Given the description of an element on the screen output the (x, y) to click on. 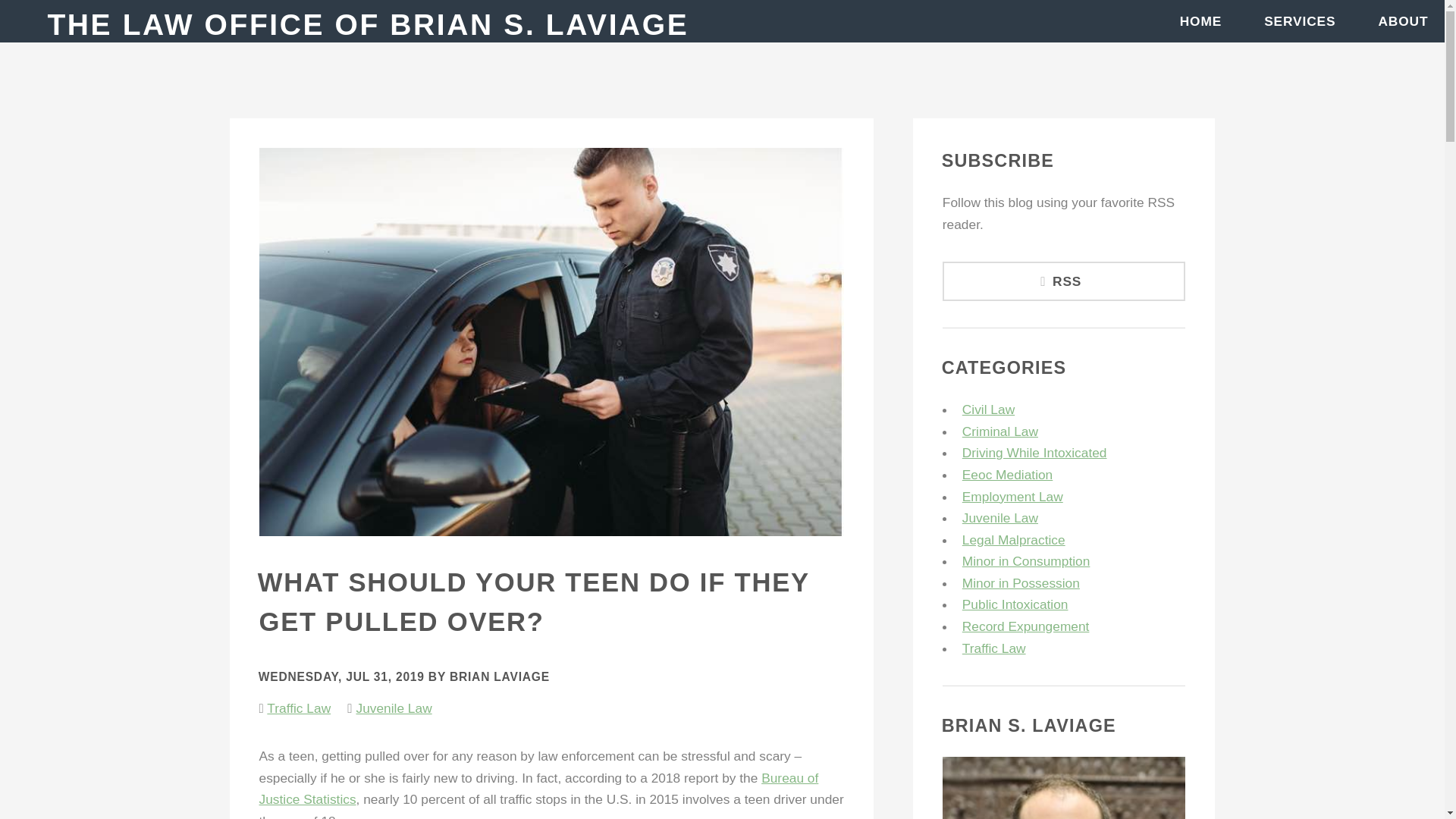
Employment Law (1012, 495)
Juvenile Law (1000, 517)
Bureau of Justice Statistics (538, 788)
Juvenile Law (392, 708)
Criminal Law (1000, 431)
Civil Law (988, 409)
Driving While Intoxicated (1034, 452)
HOME (1201, 21)
ABOUT (1403, 21)
Traffic Law (298, 708)
SERVICES (1300, 21)
THE LAW OFFICE OF BRIAN S. LAVIAGE (367, 24)
RSS (1064, 281)
Eeoc Mediation (1007, 474)
